Given the description of an element on the screen output the (x, y) to click on. 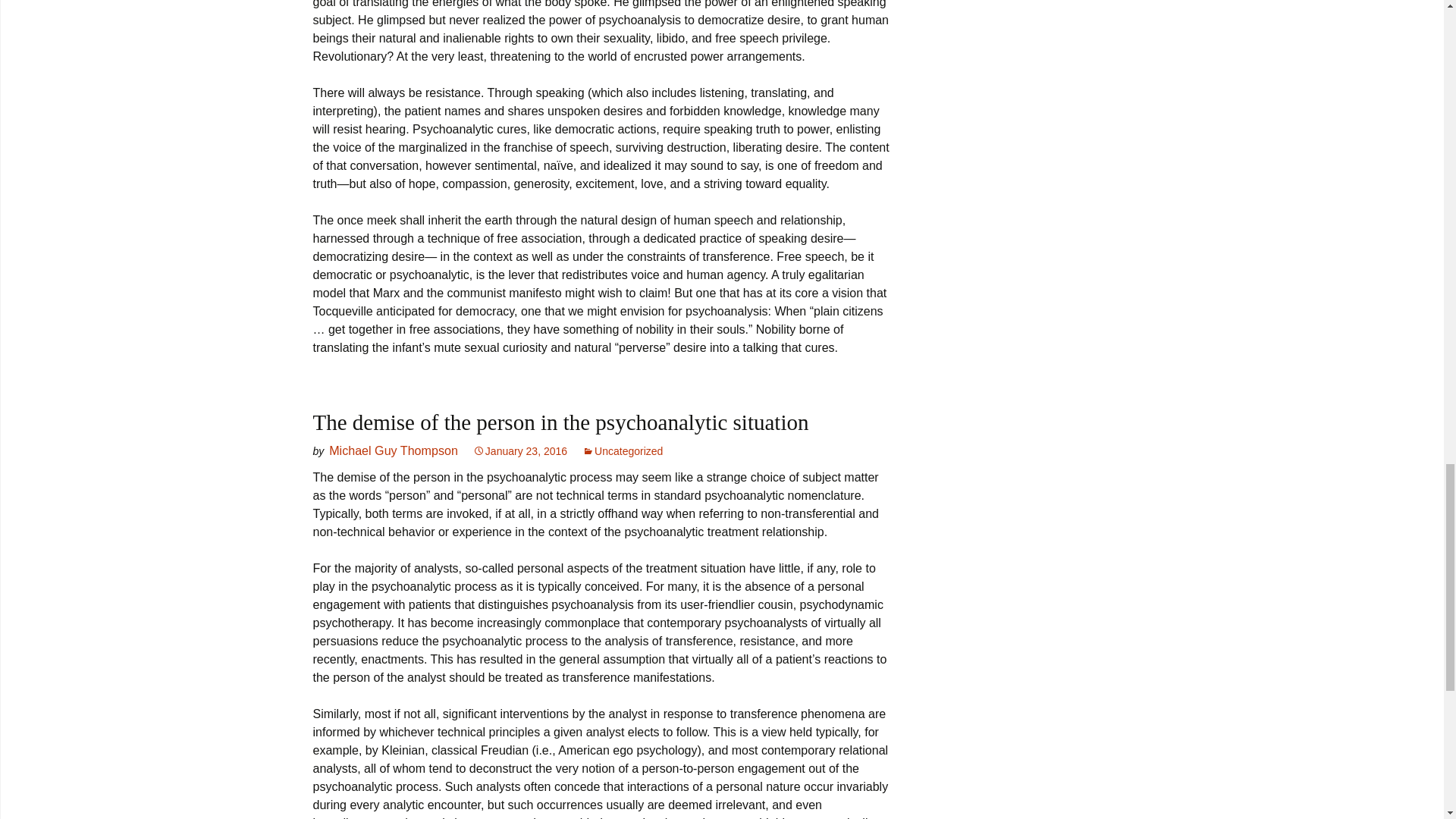
The demise of the person in the psychoanalytic situation (560, 422)
Michael Guy Thompson (393, 450)
View all posts by Michael Guy Thompson (393, 450)
Uncategorized (622, 451)
January 23, 2016 (520, 451)
